Given the description of an element on the screen output the (x, y) to click on. 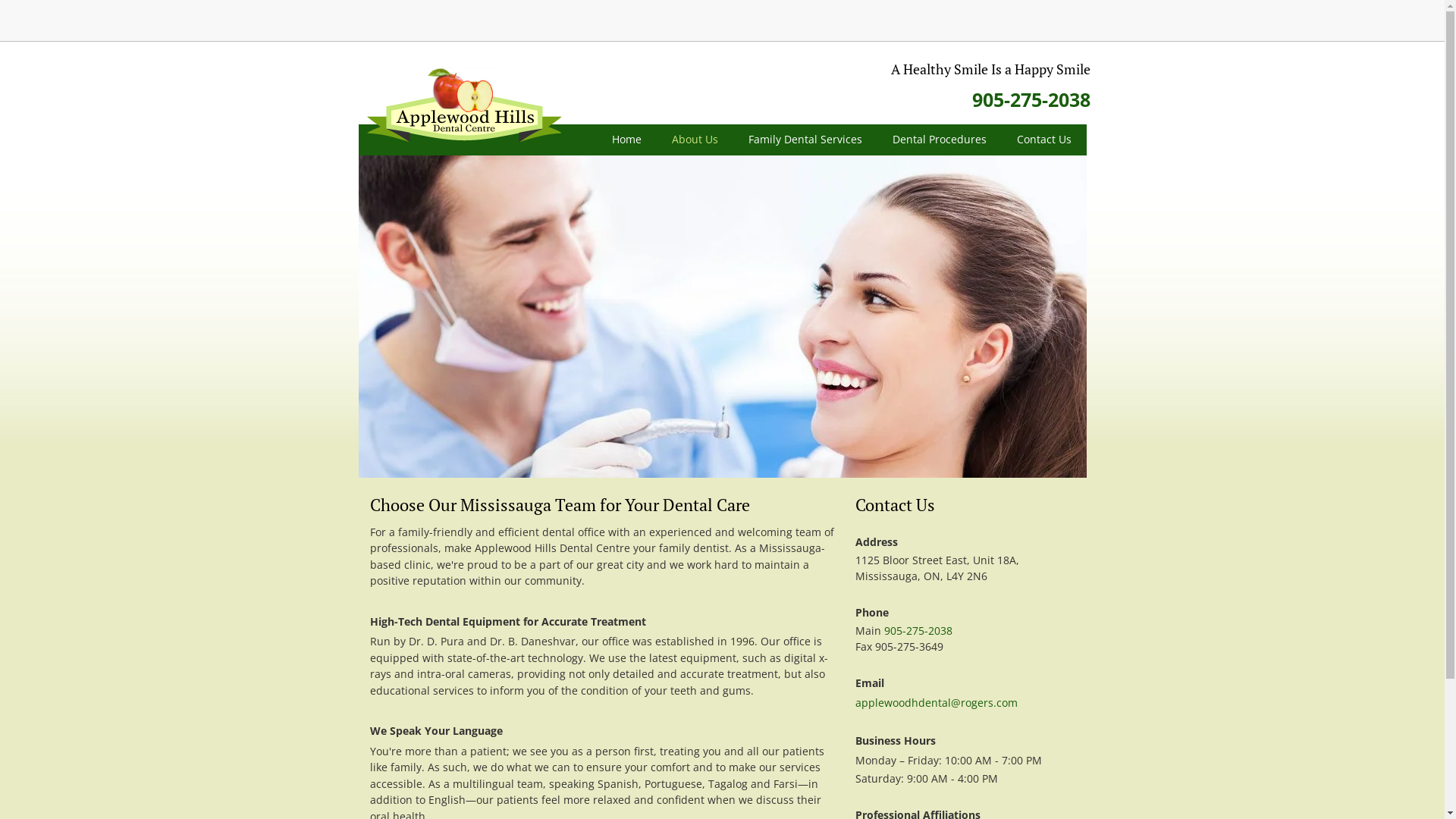
905-275-2038 Element type: text (1031, 103)
Contact Us Element type: text (1043, 139)
applewoodhdental@rogers.com Element type: text (936, 702)
Family Dental Services Element type: text (804, 139)
Embedded Content Element type: hover (1058, 20)
About Us Element type: text (694, 139)
Home Element type: text (625, 139)
Dental Procedures Element type: text (938, 139)
Embedded Content Element type: hover (984, 23)
905-275-2038 Element type: text (918, 630)
